Given the description of an element on the screen output the (x, y) to click on. 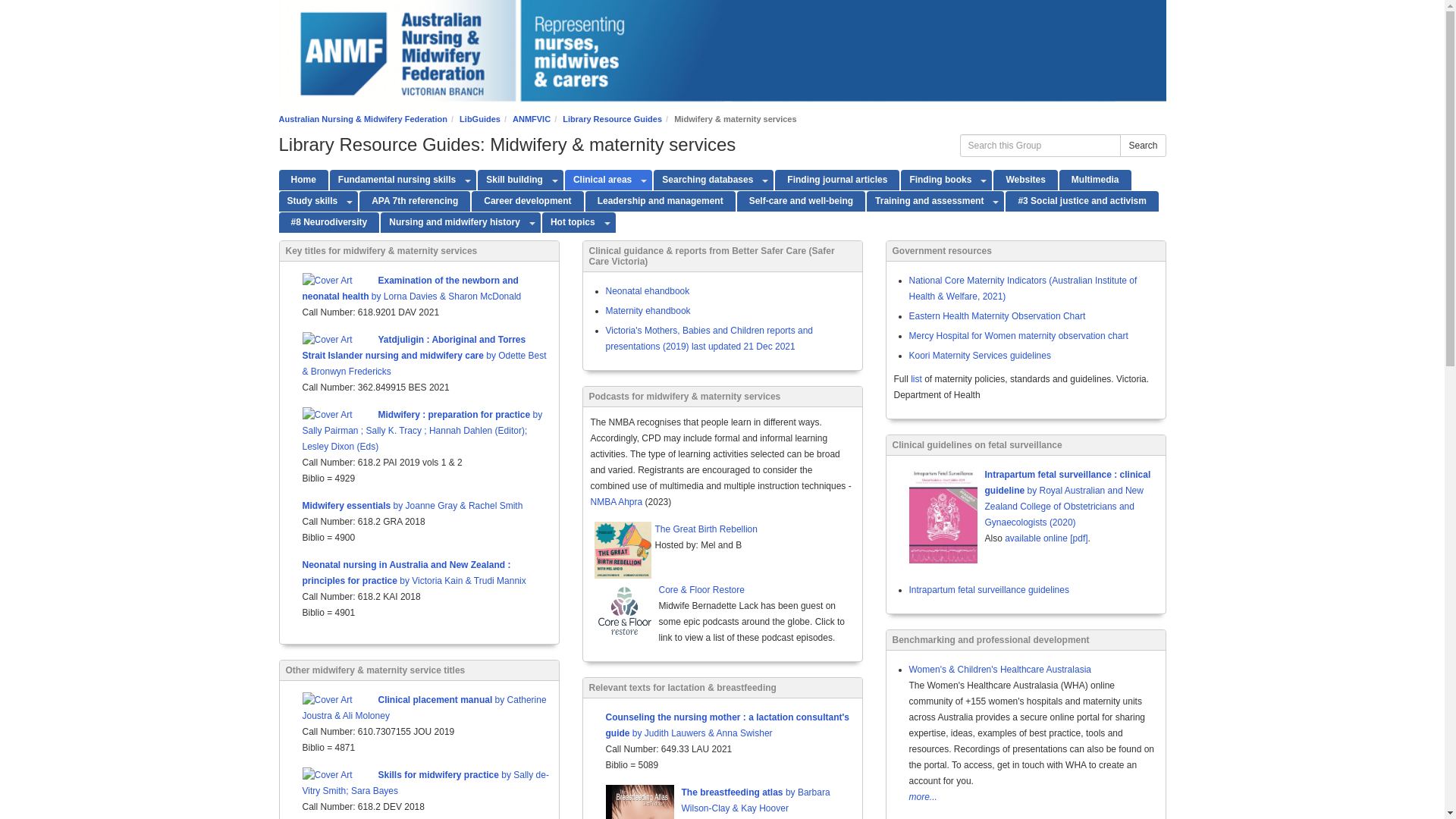
Toggle Dropdown Element type: text (765, 179)
LibGuides Element type: text (479, 118)
Multimedia Element type: text (1095, 179)
Toggle Dropdown Element type: text (555, 179)
Skill building Element type: text (512, 179)
Search Element type: text (1142, 145)
Nursing and midwifery history Element type: text (452, 222)
Eastern Health Maternity Observation Chart Element type: text (996, 315)
Koori Maternity Services guidelines Element type: text (979, 355)
Leadership and management Element type: text (660, 201)
Core & Floor Restore Element type: text (782, 590)
Intrapartum fetal surveillance guidelines Element type: text (988, 589)
Toggle Dropdown Element type: text (996, 201)
Women's & Children's Healthcare Australasia Element type: text (999, 669)
APA 7th referencing Element type: text (414, 201)
Hot topics Element type: text (570, 222)
Fundamental nursing skills Element type: text (394, 179)
The breastfeeding atlas by Barbara Wilson-Clay & Kay Hoover Element type: text (754, 800)
Searching databases Element type: text (705, 179)
Midwifery essentials by Joanne Gray & Rachel Smith Element type: text (411, 505)
Toggle Dropdown Element type: text (532, 222)
Finding journal articles Element type: text (837, 179)
Self-care and well-being Element type: text (801, 201)
Home Element type: text (303, 179)
ANMFVIC Element type: text (531, 118)
Toggle Dropdown Element type: text (644, 179)
available online [pdf] Element type: text (1045, 538)
Library Resource Guides Element type: text (612, 118)
Clinical areas Element type: text (600, 179)
Toggle Dropdown Element type: text (349, 201)
Websites Element type: text (1025, 179)
#3 Social justice and activism Element type: text (1081, 201)
Career development Element type: text (527, 201)
Finding books Element type: text (937, 179)
Toggle Dropdown Element type: text (607, 222)
Australian Nursing & Midwifery Federation Element type: text (363, 118)
Maternity ehandbook Element type: text (647, 310)
Mercy Hospital for Women maternity observation chart Element type: text (1017, 335)
Toggle Dropdown Element type: text (468, 179)
Training and assessment Element type: text (927, 201)
Neonatal ehandbook Element type: text (647, 290)
Clinical placement manual by Catherine Joustra & Ali Moloney Element type: text (423, 707)
Study skills Element type: text (310, 201)
more... Element type: text (1032, 797)
The Great Birth Rebellion Element type: text (779, 530)
list Element type: text (916, 378)
#8 Neurodiversity Element type: text (329, 222)
NMBA Ahpra Element type: text (615, 501)
Toggle Dropdown Element type: text (983, 179)
